Given the description of an element on the screen output the (x, y) to click on. 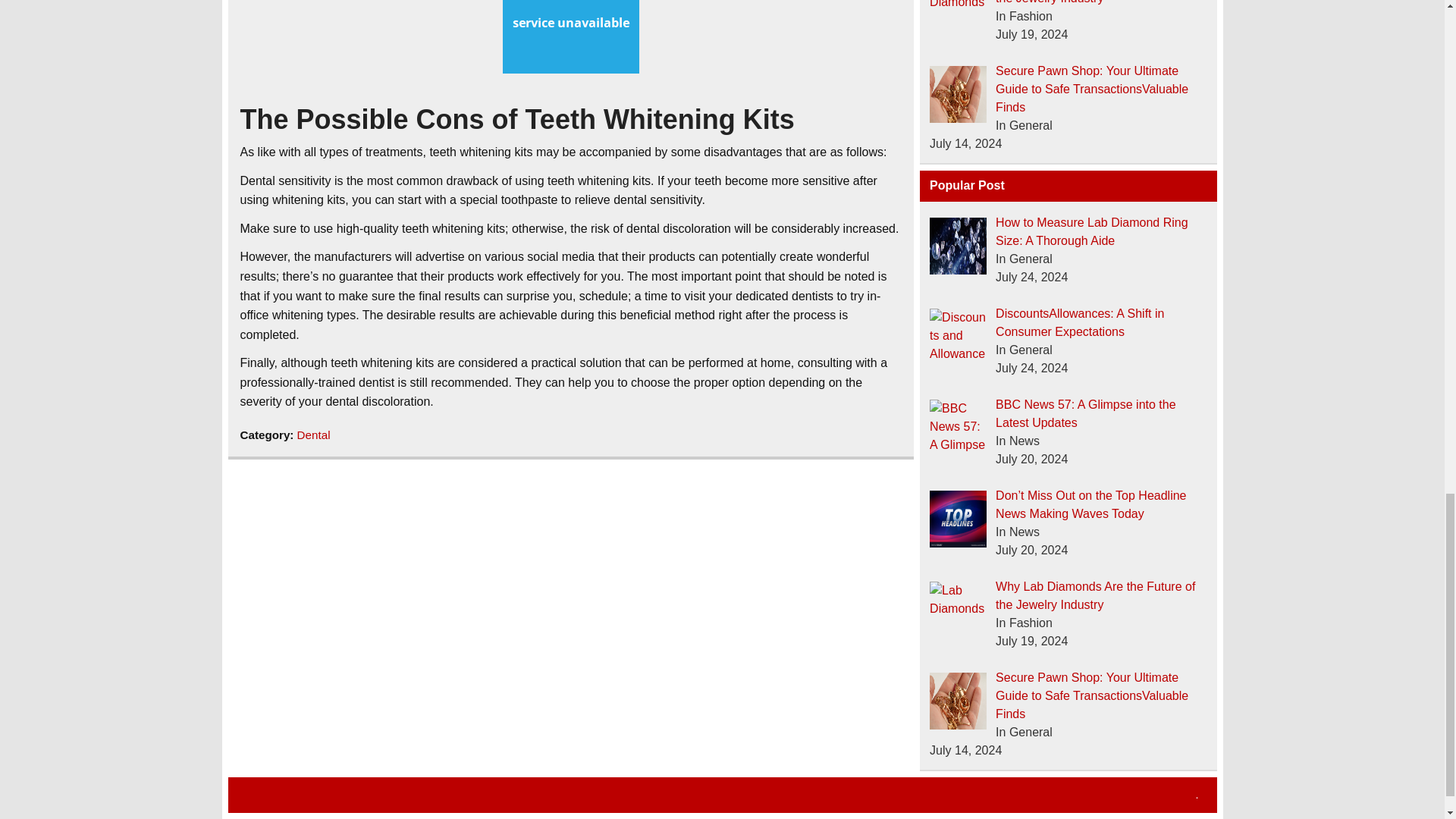
How to Measure Lab Diamond Ring Size: A Thorough Aide (1091, 231)
Why Lab Diamonds Are the Future of the Jewelry Industry (1095, 2)
Dental (313, 434)
